Given the description of an element on the screen output the (x, y) to click on. 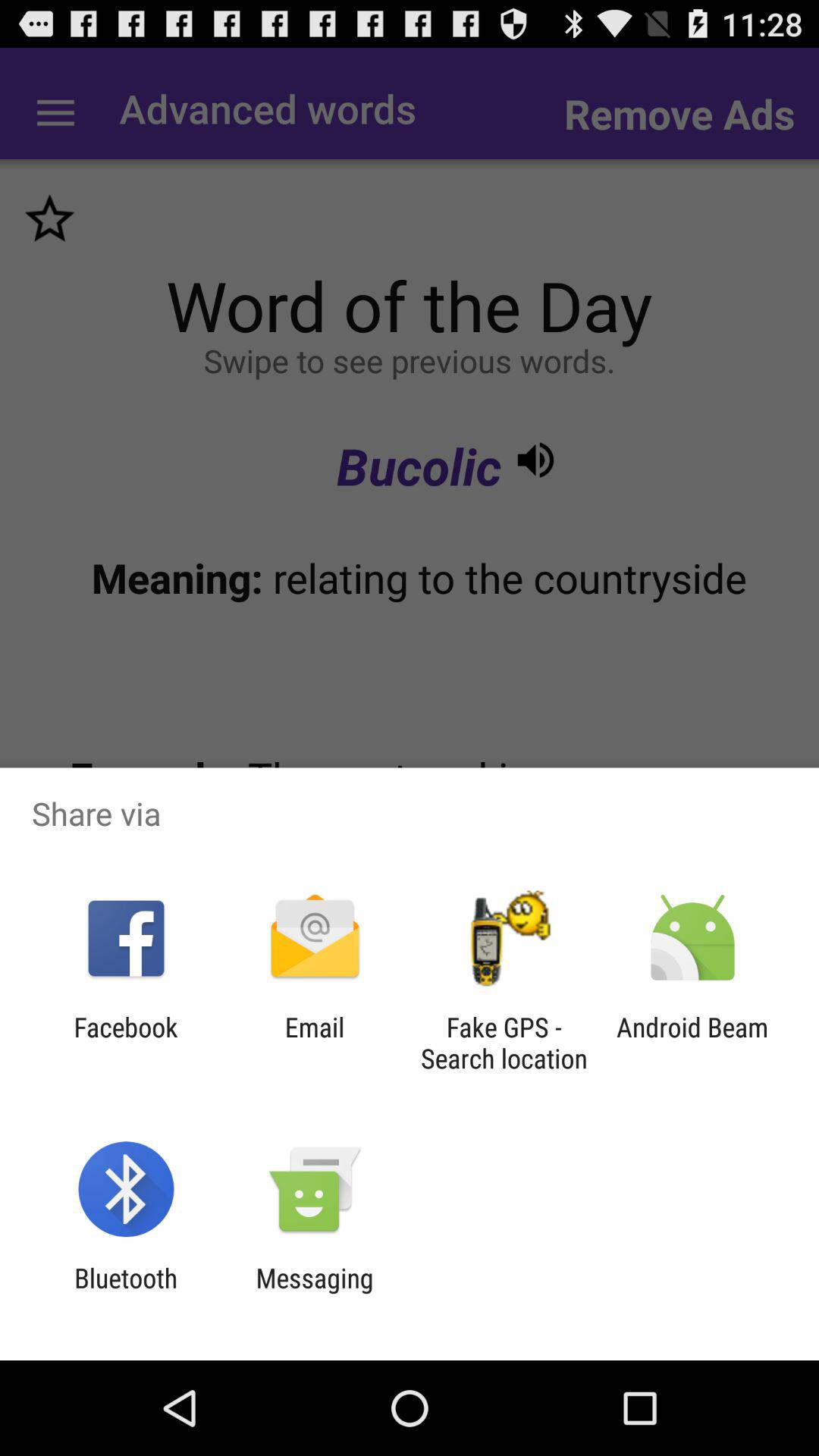
click the app next to email (125, 1042)
